Given the description of an element on the screen output the (x, y) to click on. 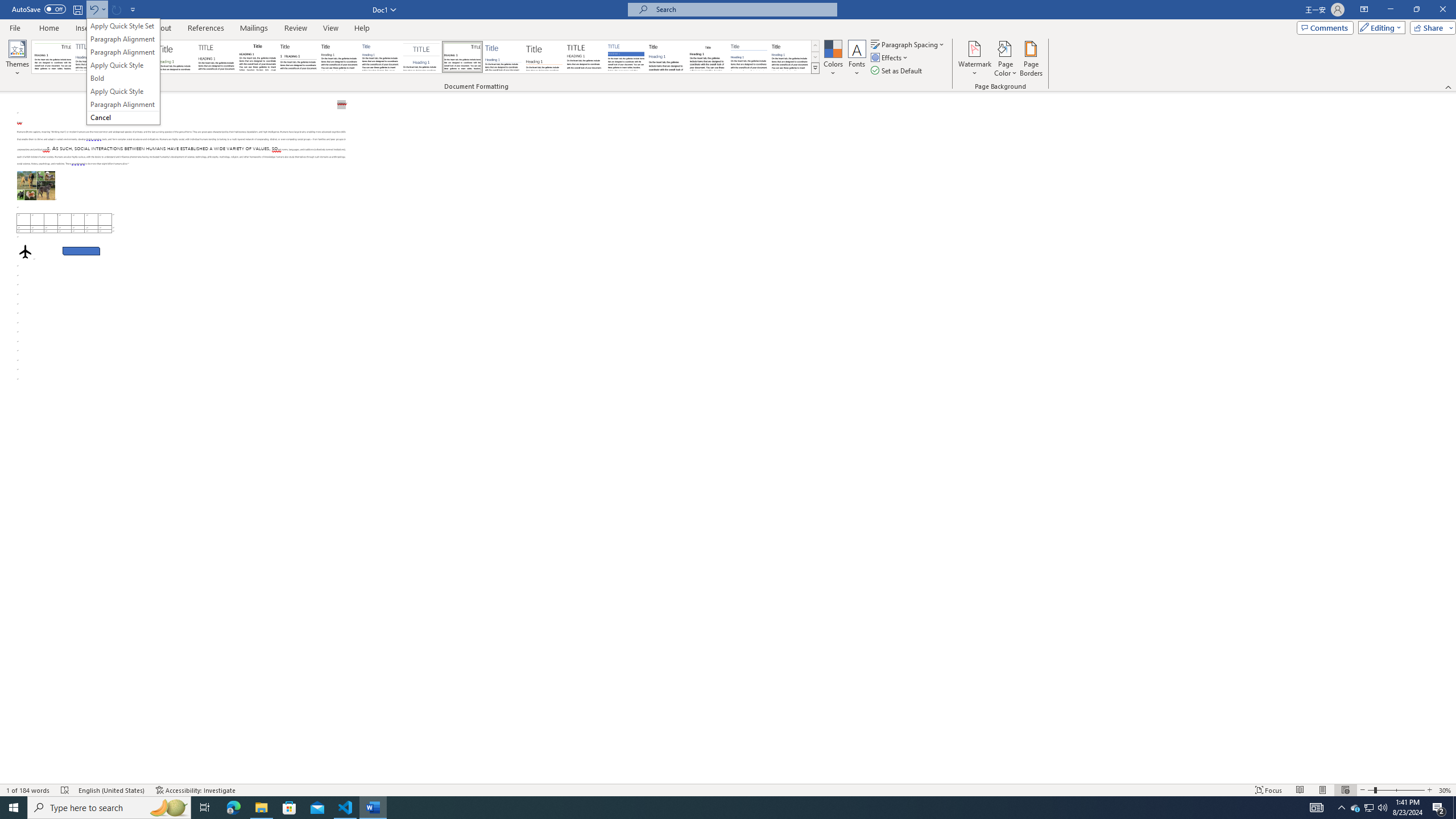
Black & White (Capitalized) (216, 56)
Style Set (814, 67)
Running applications (717, 807)
Page Borders... (1031, 58)
Paragraph Spacing (908, 44)
Black & White (Classic) (257, 56)
Centered (421, 56)
